Given the description of an element on the screen output the (x, y) to click on. 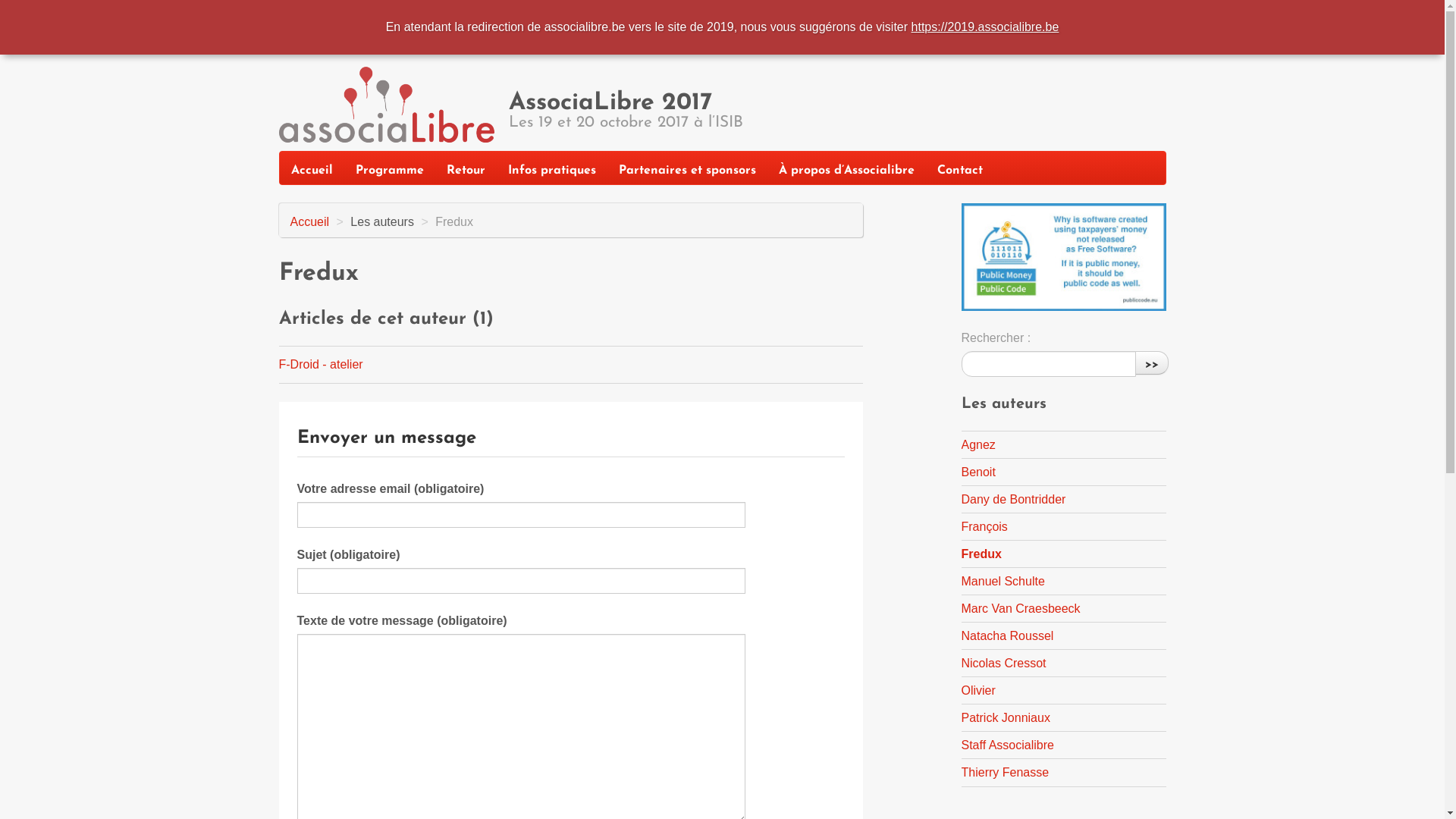
Natacha Roussel Element type: text (1007, 635)
>> Element type: text (1150, 363)
Dany de Bontridder Element type: text (1013, 498)
Accueil Element type: text (311, 167)
Nicolas Cressot Element type: text (1003, 662)
Retour Element type: text (465, 167)
F-Droid - atelier Element type: text (321, 363)
Fredux Element type: text (981, 553)
Olivier Element type: text (978, 690)
Agnez Element type: text (978, 444)
Thierry Fenasse Element type: text (1005, 771)
Programme Element type: text (389, 167)
Benoit Element type: text (978, 471)
Staff Associalibre Element type: text (1007, 744)
Contact Element type: text (959, 167)
Manuel Schulte Element type: text (1002, 580)
Accueil Element type: text (309, 221)
Infos pratiques Element type: text (550, 167)
Public Money, Public Code Element type: hover (1063, 256)
Marc Van Craesbeeck Element type: text (1020, 608)
Patrick Jonniaux Element type: text (1005, 717)
Partenaires et sponsors Element type: text (686, 167)
https://2019.associalibre.be Element type: text (985, 26)
